Given the description of an element on the screen output the (x, y) to click on. 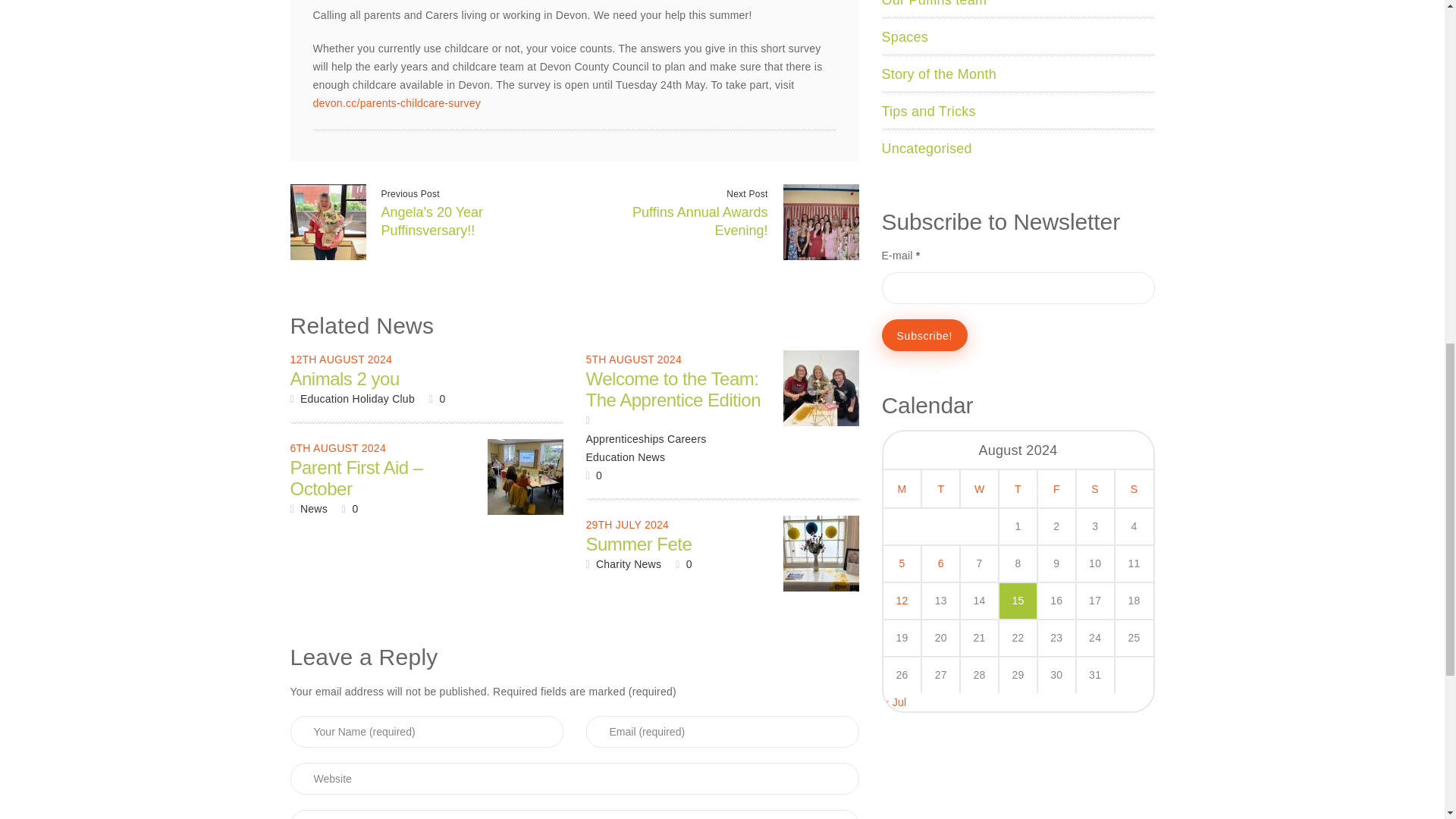
Monday (902, 488)
Subscribe! (925, 335)
Wednesday (978, 488)
E-mail (1018, 287)
Welcome to the Team: The Apprentice Edition (821, 387)
Summer Fete (821, 553)
Tuesday (940, 488)
